Given the description of an element on the screen output the (x, y) to click on. 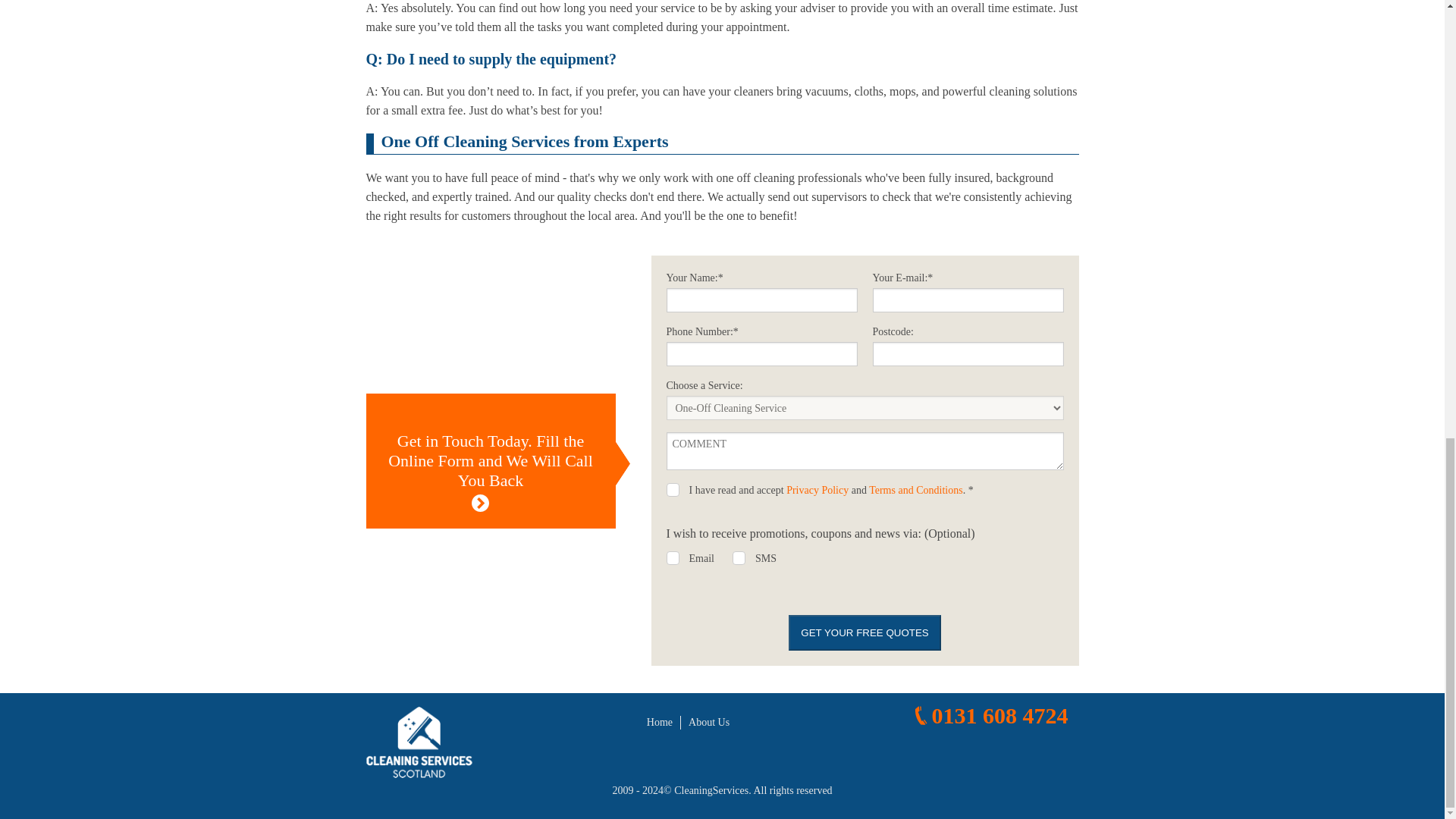
Get Your Free Quotes (864, 632)
Get Your Free Quotes (864, 632)
Home (659, 722)
About Us (708, 722)
0131 608 4724 (989, 715)
Privacy Policy (817, 490)
Terms and Conditions (915, 490)
